Given the description of an element on the screen output the (x, y) to click on. 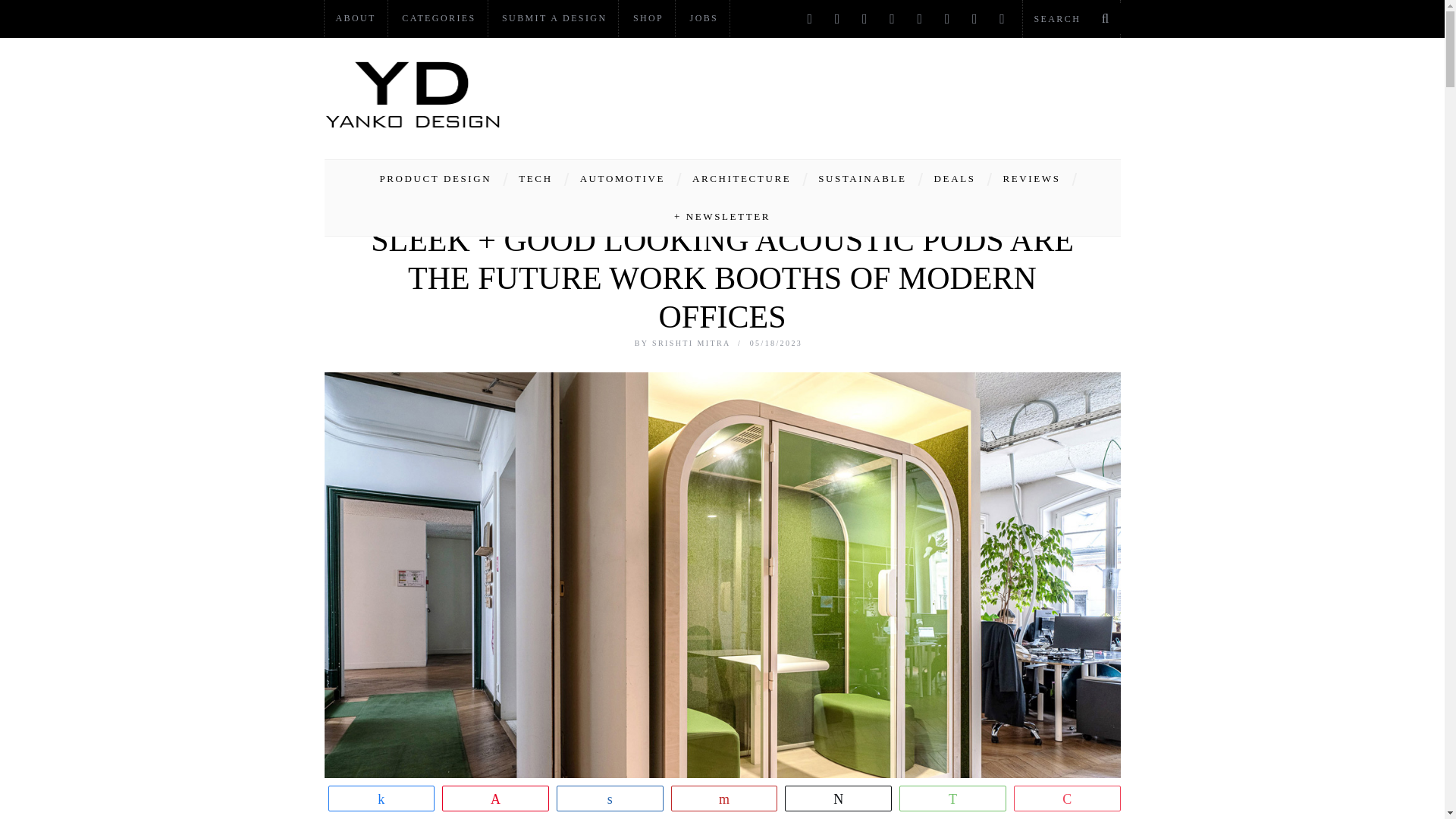
Search (1071, 18)
